Given the description of an element on the screen output the (x, y) to click on. 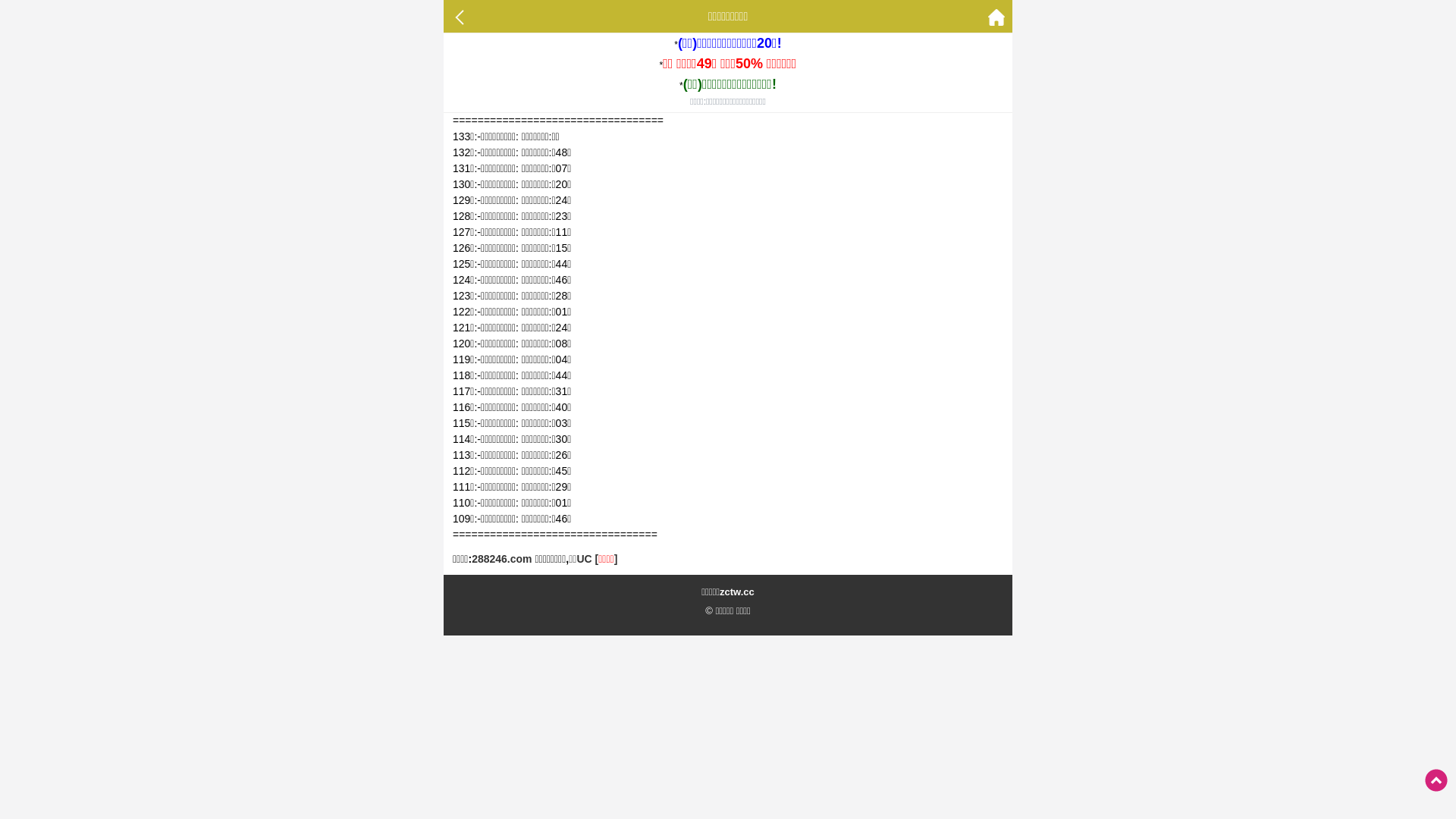
288246.com Element type: text (501, 558)
